Given the description of an element on the screen output the (x, y) to click on. 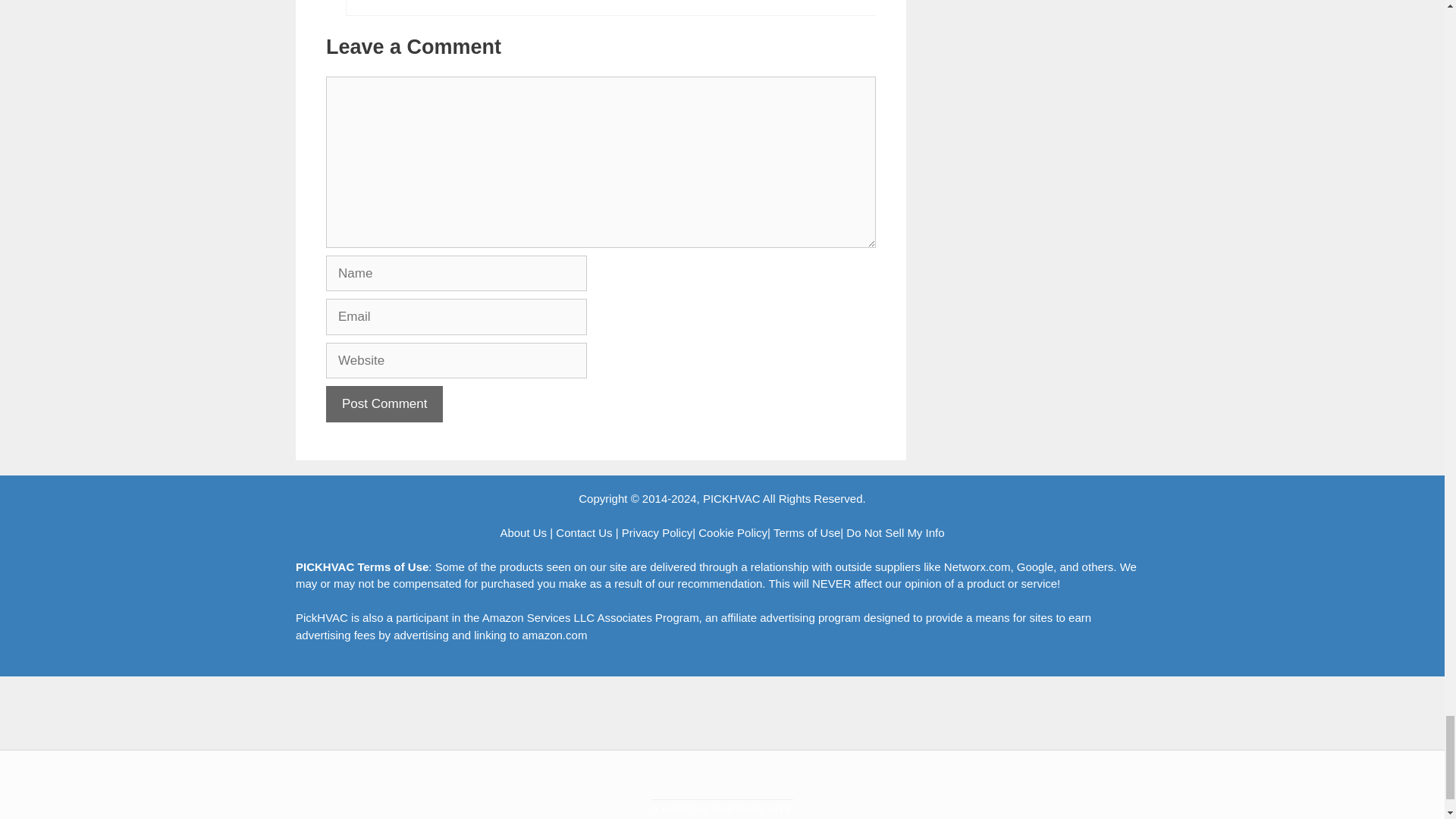
Post Comment (384, 403)
